Given the description of an element on the screen output the (x, y) to click on. 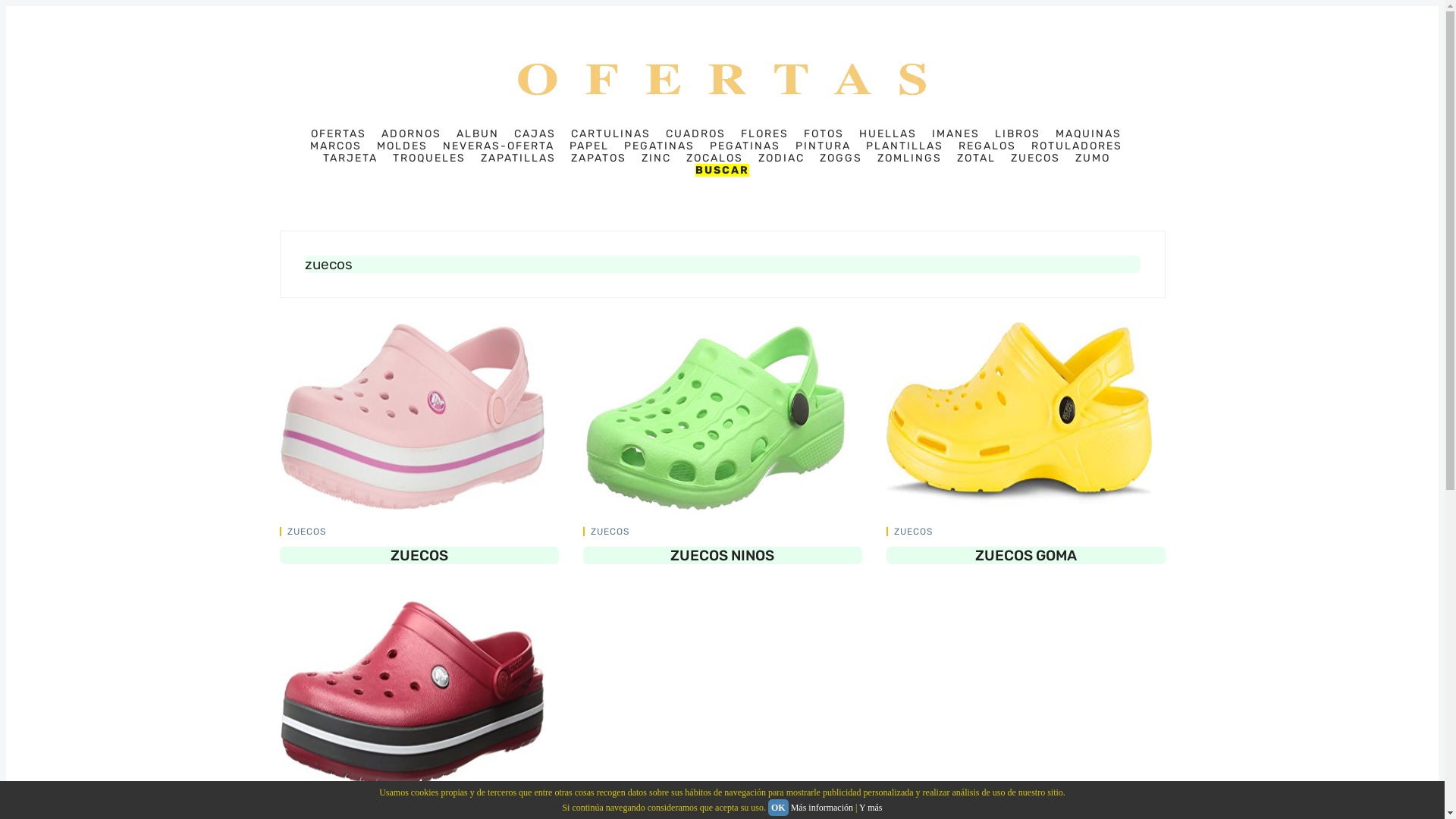
ZUECOS Element type: text (1034, 158)
ZUECOS Element type: text (305, 531)
CUADROS Element type: text (695, 133)
MOLDES Element type: text (401, 146)
TARJETA Element type: text (350, 158)
PINTURA Element type: text (822, 146)
REGALOS Element type: text (987, 146)
MAQUINAS Element type: text (1088, 133)
NEVERAS-OFERTA Element type: text (498, 146)
PAPEL Element type: text (588, 146)
CARTULINAS Element type: text (610, 133)
ZINC Element type: text (656, 158)
PLANTILLAS Element type: text (904, 146)
ZOTAL Element type: text (976, 158)
ZUECOS Element type: text (912, 531)
BUSCAR Element type: text (722, 169)
ZUECOS Element type: text (418, 555)
ADORNOS Element type: text (411, 133)
ZOGGS Element type: text (840, 158)
ALBUN Element type: text (477, 133)
MARCOS Element type: text (335, 146)
LIBROS Element type: text (1017, 133)
ZUMO Element type: text (1092, 158)
OFERTAS Element type: text (338, 133)
ZUECOS Element type: text (608, 531)
CAJAS Element type: text (534, 133)
ZOMLINGS Element type: text (908, 158)
FLORES Element type: text (764, 133)
ZUECOS GOMA Element type: text (1024, 555)
OK Element type: text (778, 807)
HUELLAS Element type: text (887, 133)
PEGATINAS Element type: text (744, 146)
ZUECOS NINOS Element type: text (721, 555)
TROQUELES Element type: text (428, 158)
ZAPATILLAS Element type: text (517, 158)
PEGATINAS Element type: text (659, 146)
FOTOS Element type: text (823, 133)
ZOCALOS Element type: text (713, 158)
ZUECOS Element type: text (305, 808)
ZODIAC Element type: text (781, 158)
IMANES Element type: text (955, 133)
ROTULADORES Element type: text (1076, 146)
ZAPATOS Element type: text (597, 158)
